Given the description of an element on the screen output the (x, y) to click on. 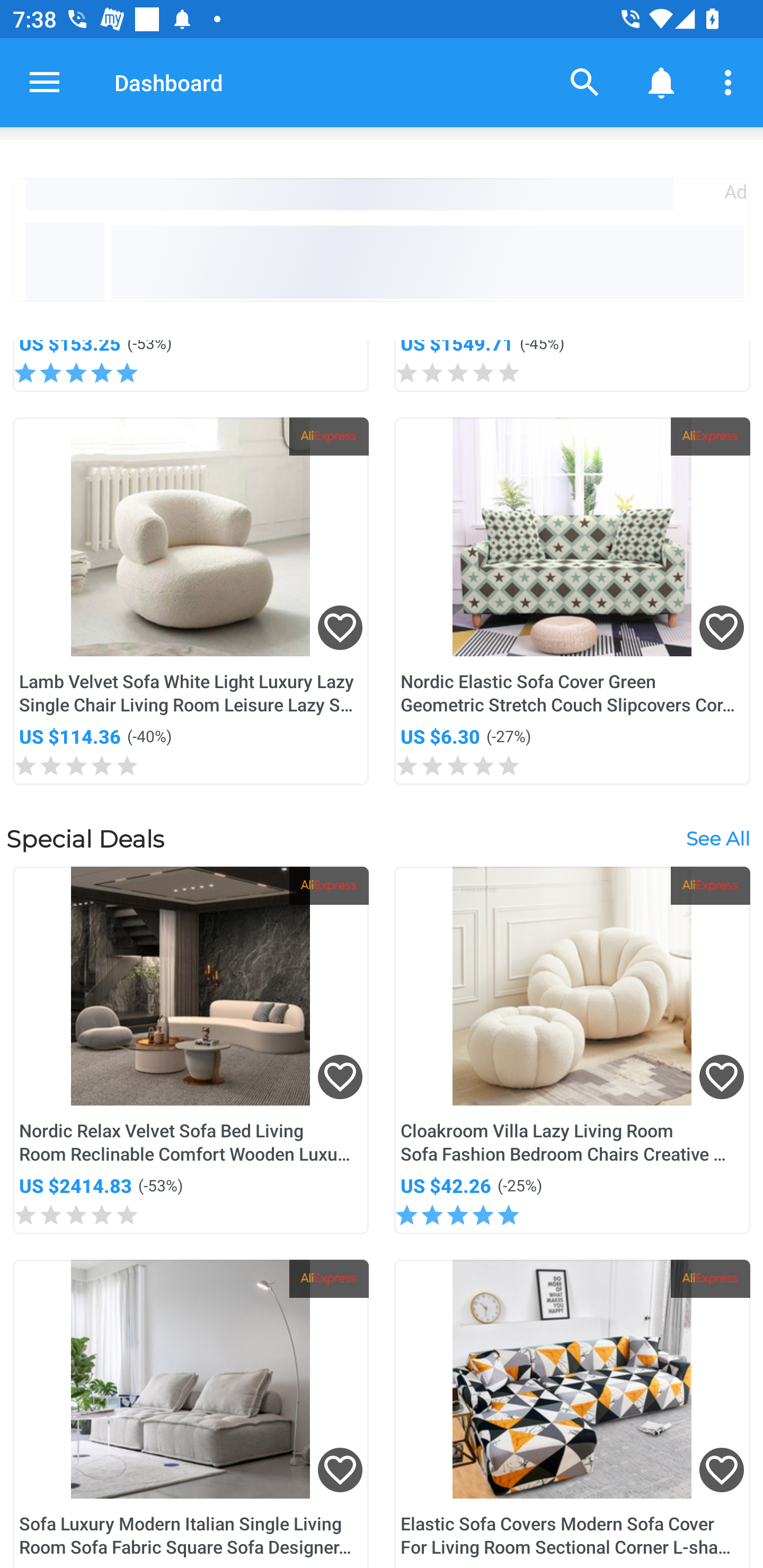
Open navigation drawer (44, 82)
Search (585, 81)
More options (731, 81)
See All (717, 838)
